Given the description of an element on the screen output the (x, y) to click on. 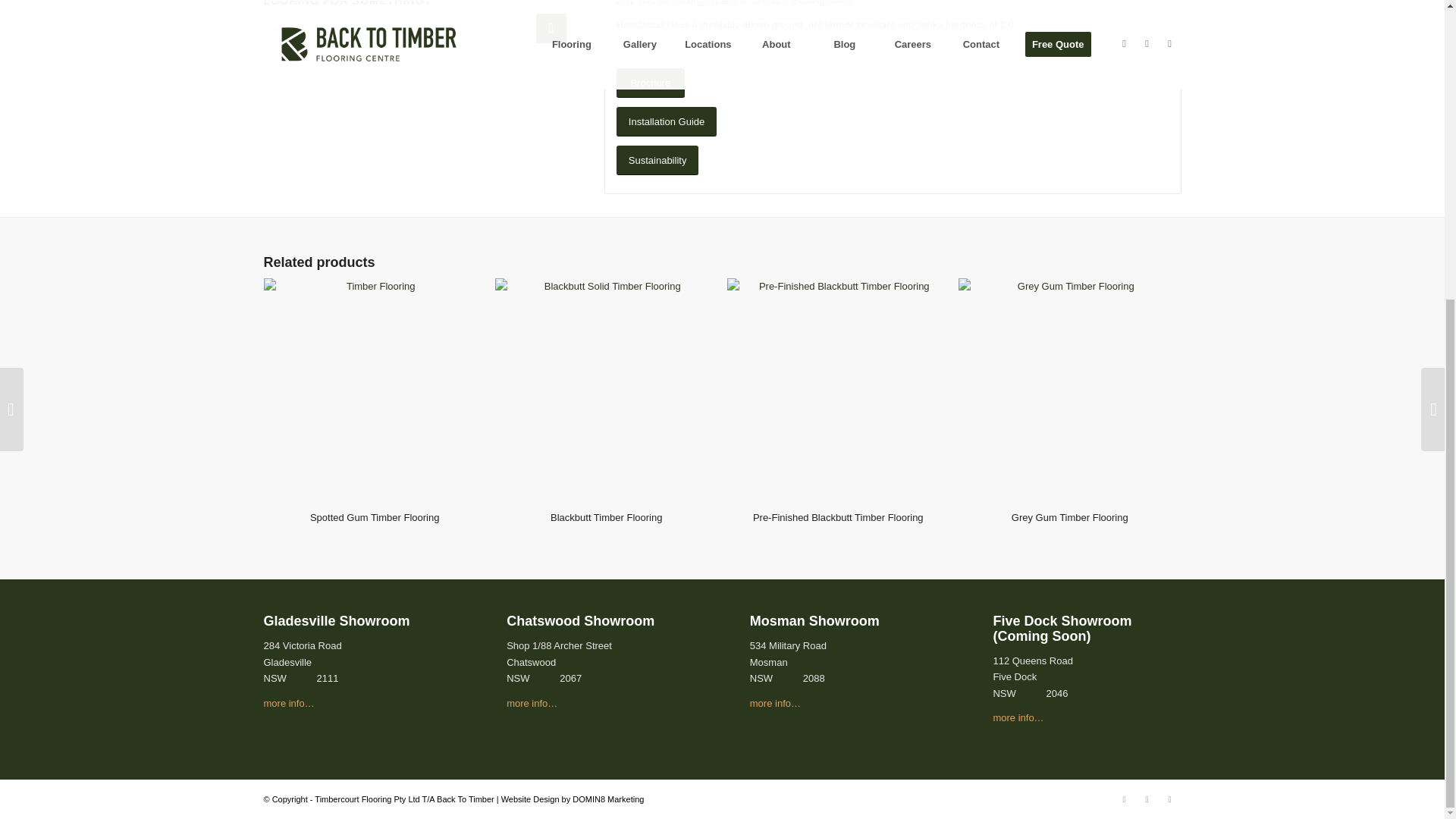
Click to start search (550, 28)
Instagram (1146, 798)
Facebook (1124, 798)
WhatsApp (1169, 798)
